Given the description of an element on the screen output the (x, y) to click on. 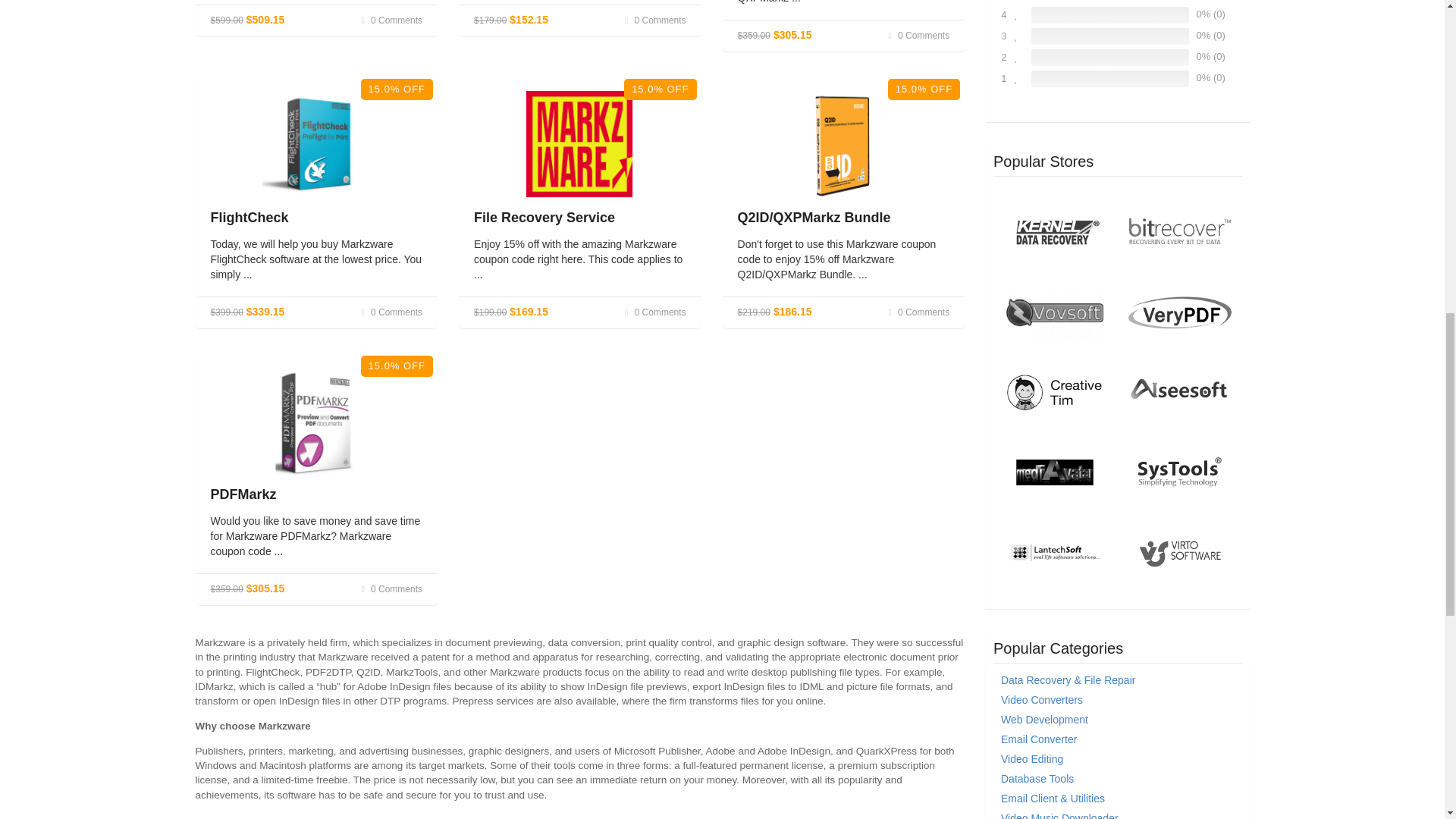
0 Comments (653, 20)
0 Comments (390, 20)
